Given the description of an element on the screen output the (x, y) to click on. 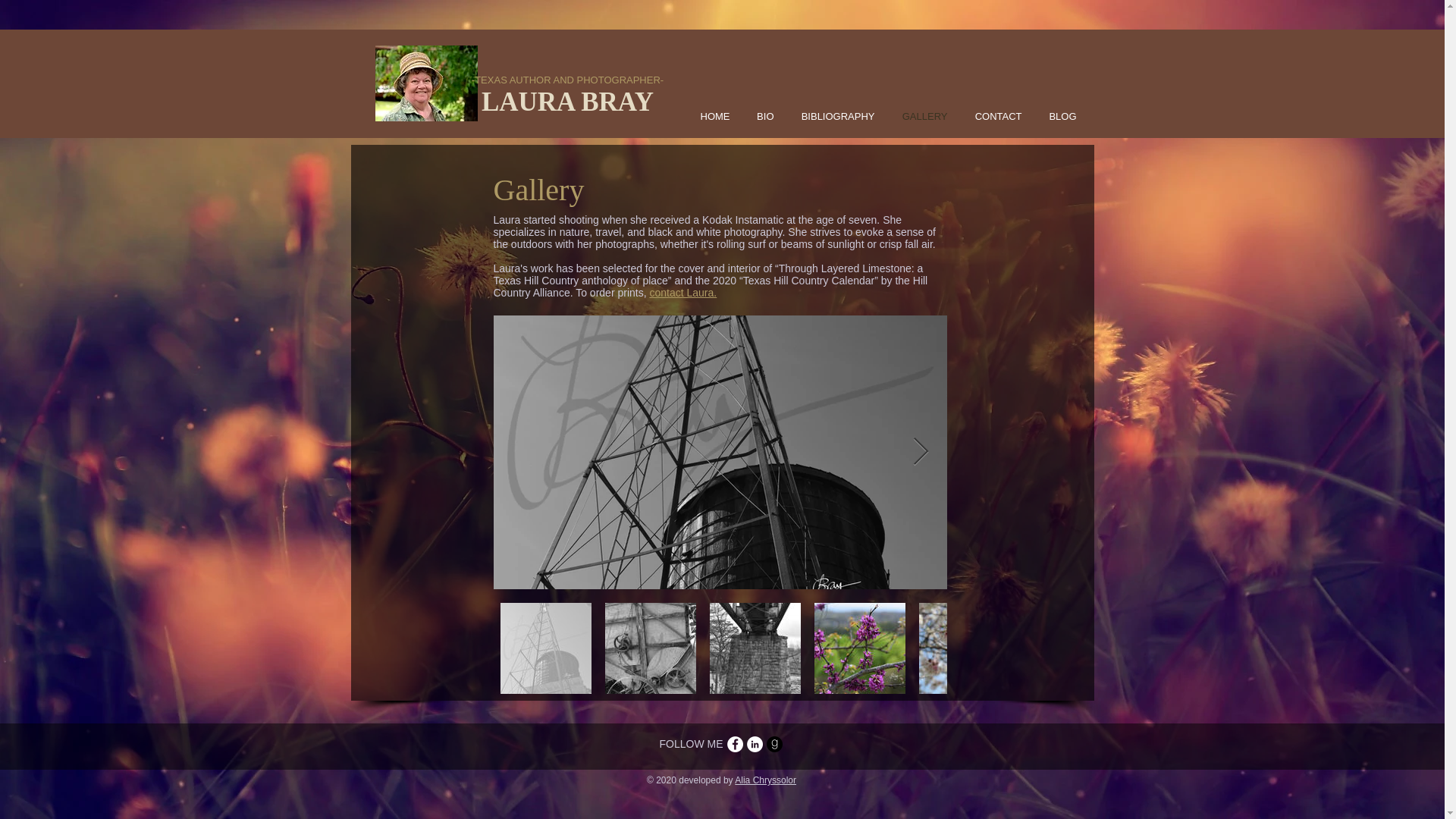
BIO (760, 116)
contact Laura. (682, 292)
HOME (709, 116)
BIBLIOGRAPHY (833, 116)
Alia Chryssolor (765, 779)
GALLERY (918, 116)
CONTACT (992, 116)
BLOG (1056, 116)
LAURA BRAY (567, 101)
